Given the description of an element on the screen output the (x, y) to click on. 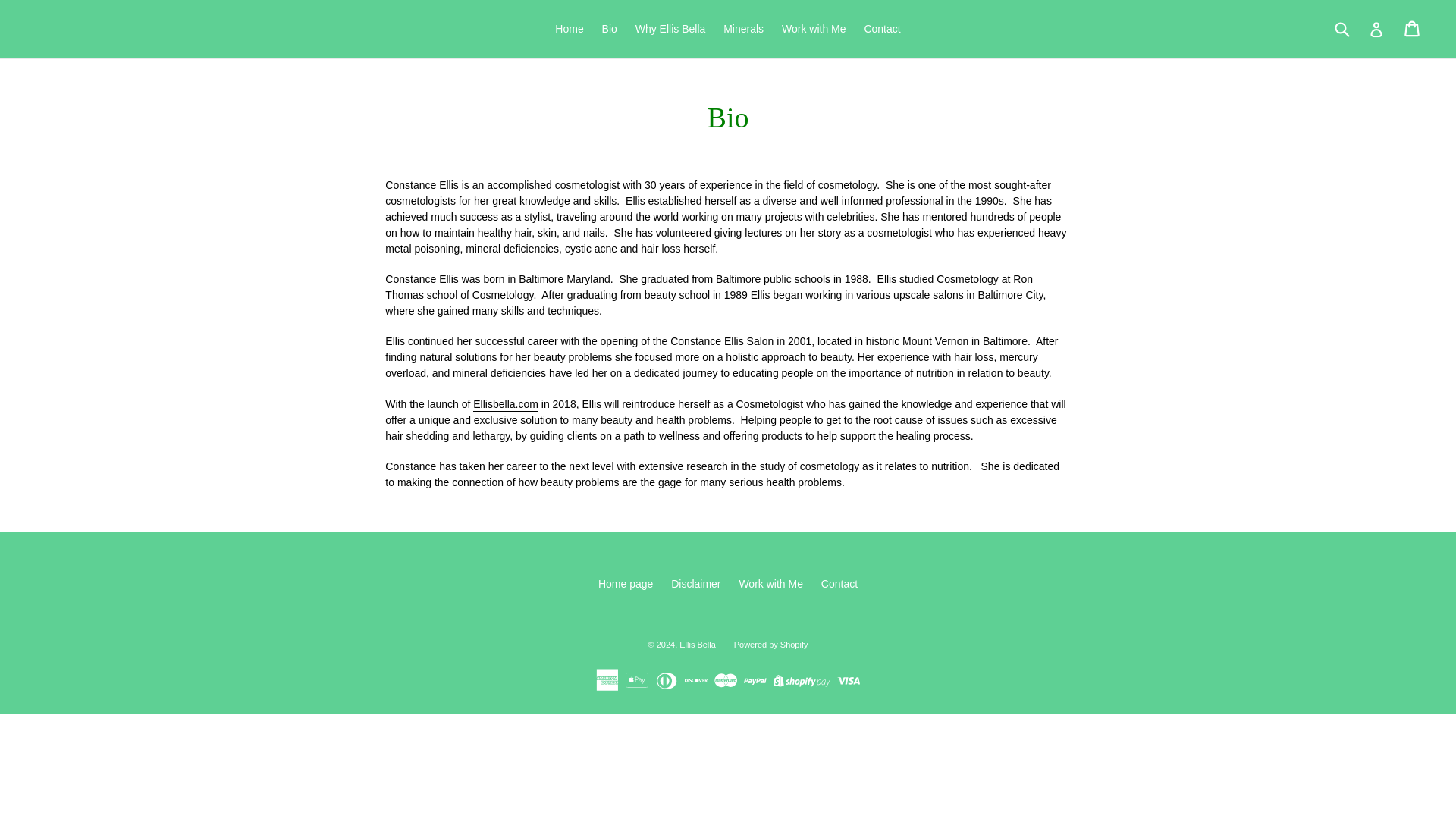
Bio (609, 28)
Ellisbella.com (505, 404)
Minerals (1413, 28)
Home page (743, 28)
Powered by Shopify (625, 583)
Contact (770, 644)
Ellis Bella (881, 28)
Log in (697, 644)
Home (1376, 29)
Contact (569, 28)
Work with Me (839, 583)
Work with Me (770, 583)
Why Ellis Bella (813, 28)
Disclaimer (670, 28)
